Given the description of an element on the screen output the (x, y) to click on. 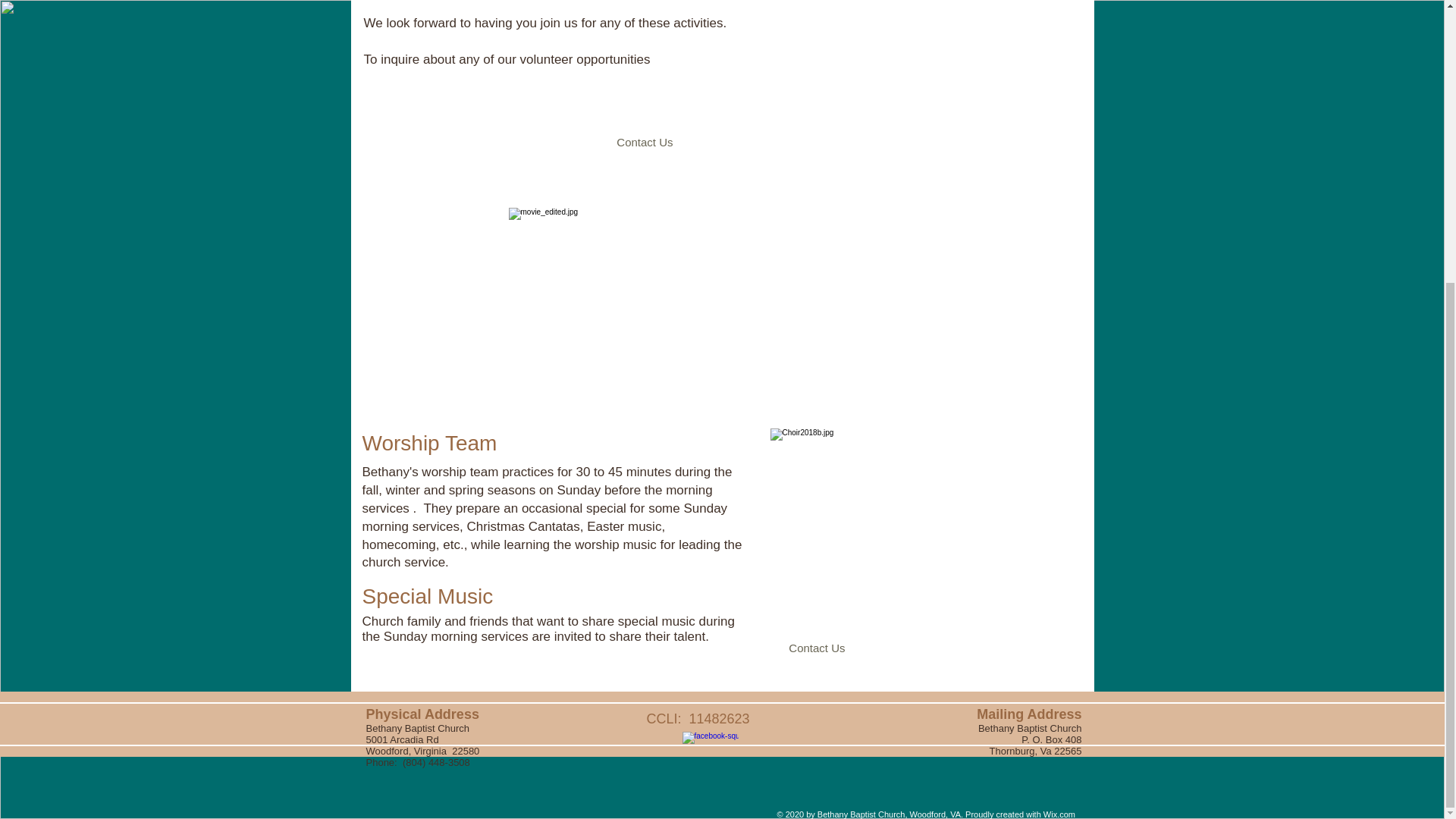
Contact Us (643, 141)
Contact Us (816, 647)
